Given the description of an element on the screen output the (x, y) to click on. 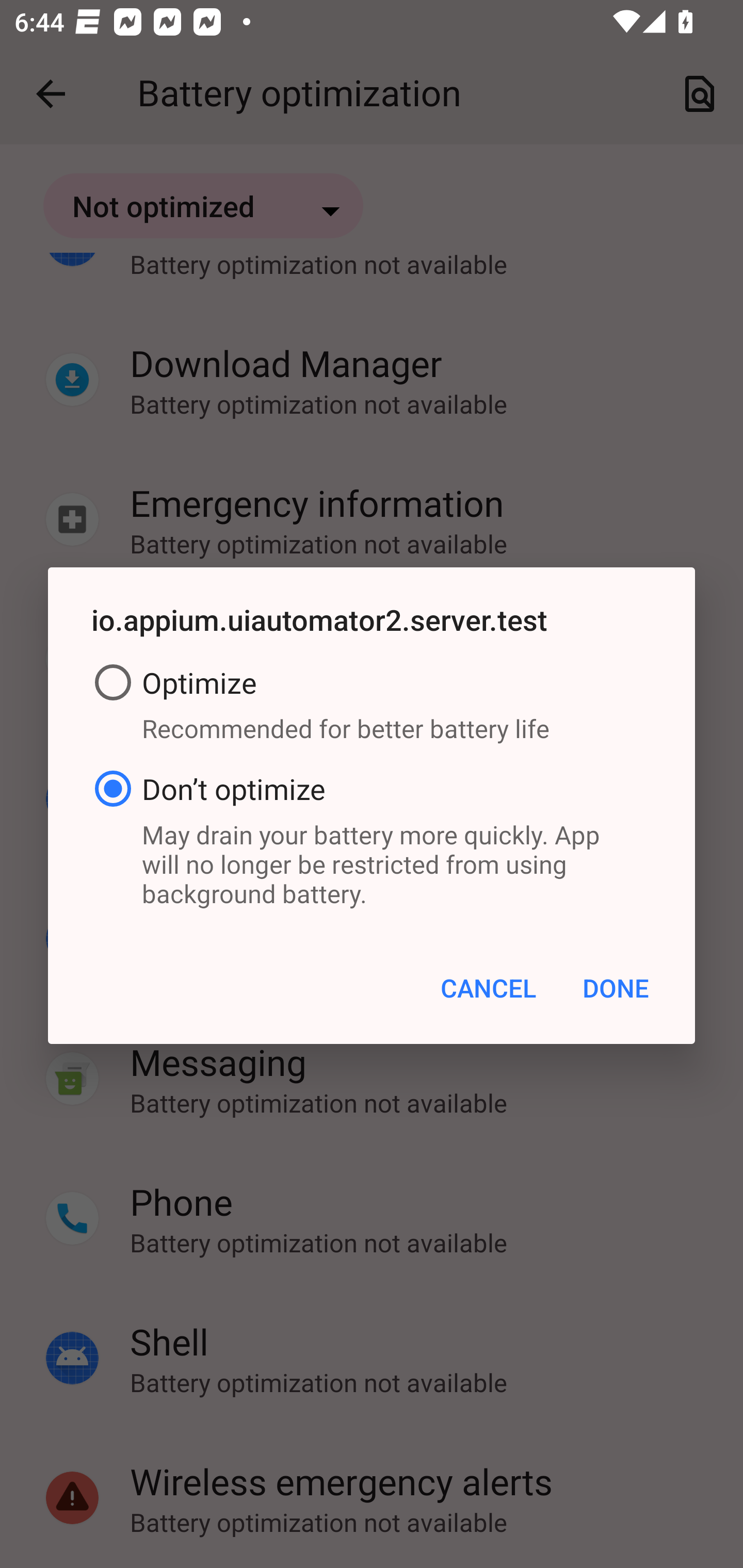
Optimize Recommended for better battery life (371, 706)
CANCEL (488, 987)
DONE (615, 987)
